Given the description of an element on the screen output the (x, y) to click on. 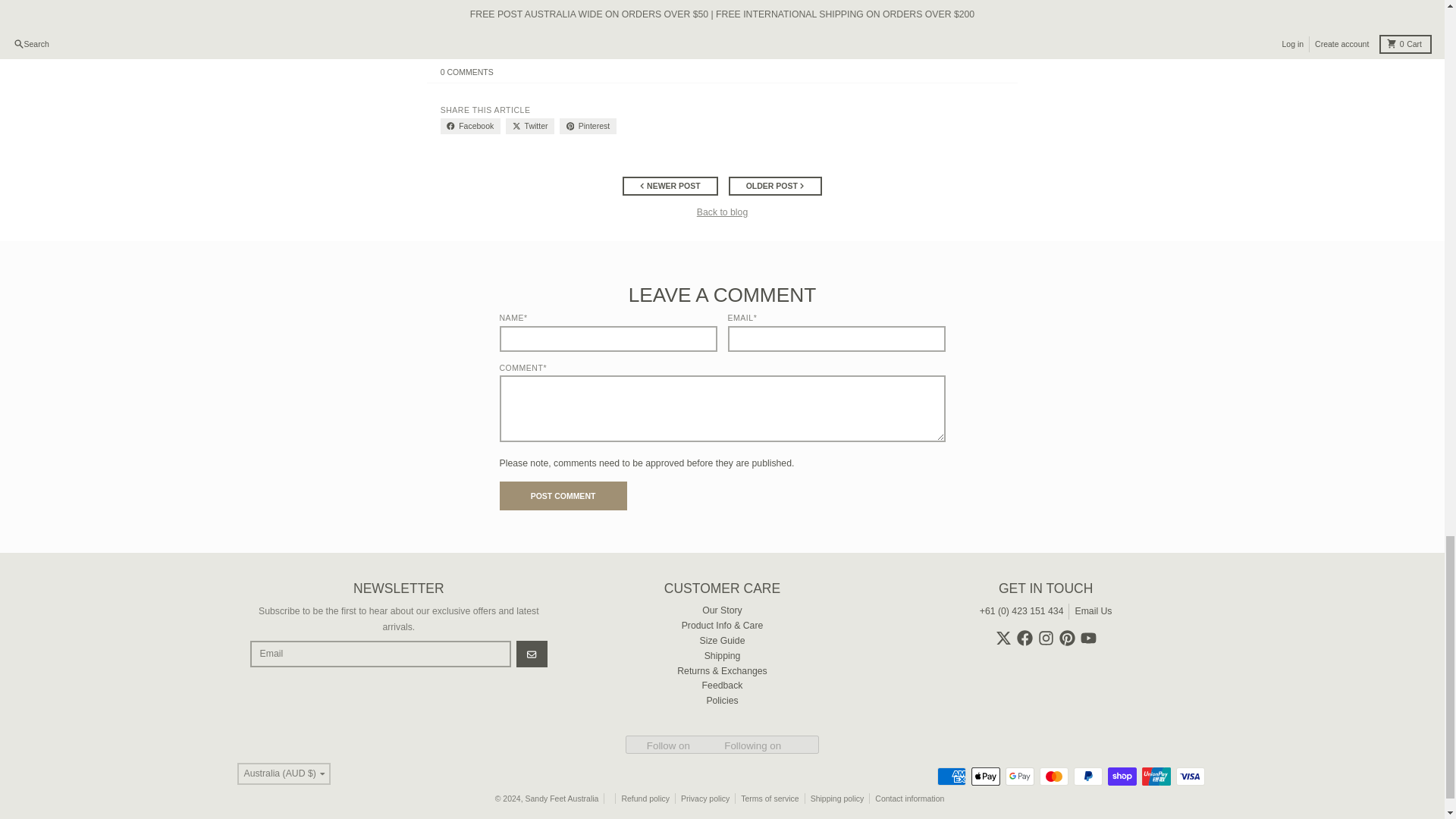
Instagram - Sandy Feet Australia (1046, 637)
Facebook - Sandy Feet Australia (1024, 637)
YouTube - Sandy Feet Australia (1088, 637)
Twitter - Sandy Feet Australia (1003, 637)
Post comment (562, 496)
Pinterest - Sandy Feet Australia (1067, 637)
